Given the description of an element on the screen output the (x, y) to click on. 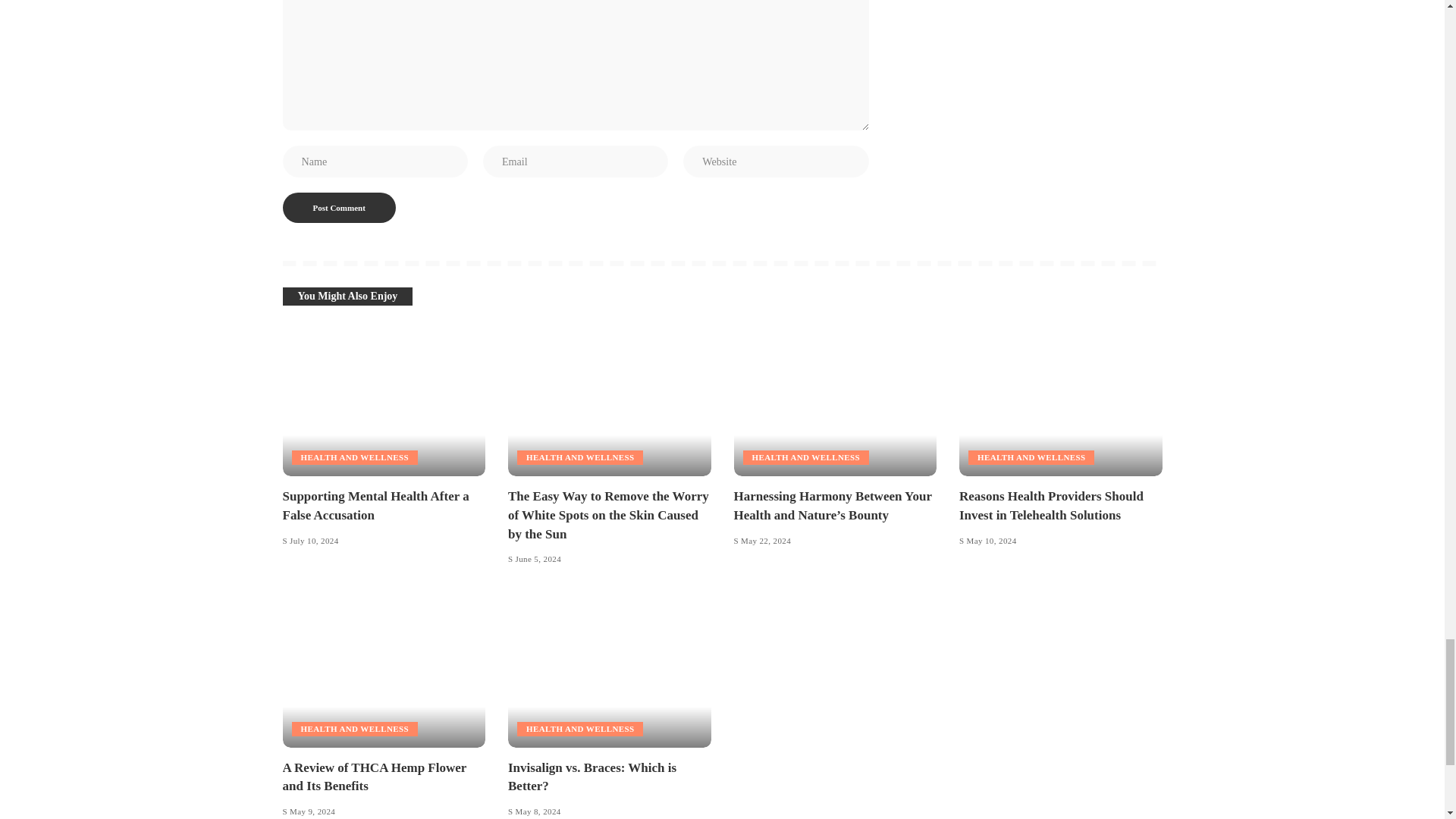
Post Comment (338, 207)
